Given the description of an element on the screen output the (x, y) to click on. 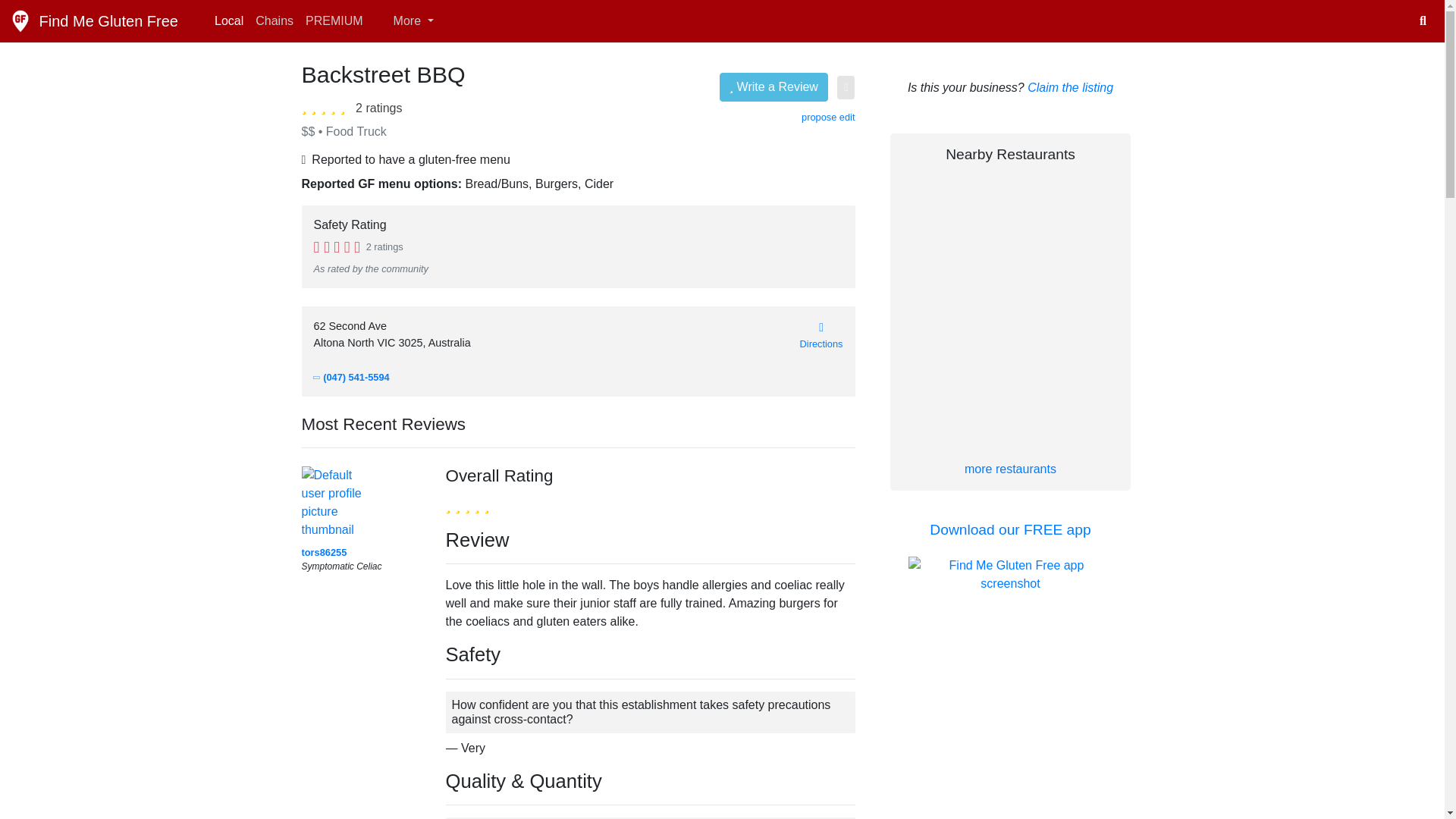
propose edit (828, 116)
5.0 star rating (325, 105)
More (404, 20)
Local (228, 20)
Claim the listing (1070, 87)
tors86255 (324, 552)
Chains (273, 20)
Download our FREE app (1010, 529)
4.85 safety rating (336, 246)
Write a Review (773, 86)
PREMIUM (334, 20)
more restaurants (1010, 468)
Find Me Gluten Free (94, 20)
5 star rating (467, 504)
Directions (821, 334)
